Given the description of an element on the screen output the (x, y) to click on. 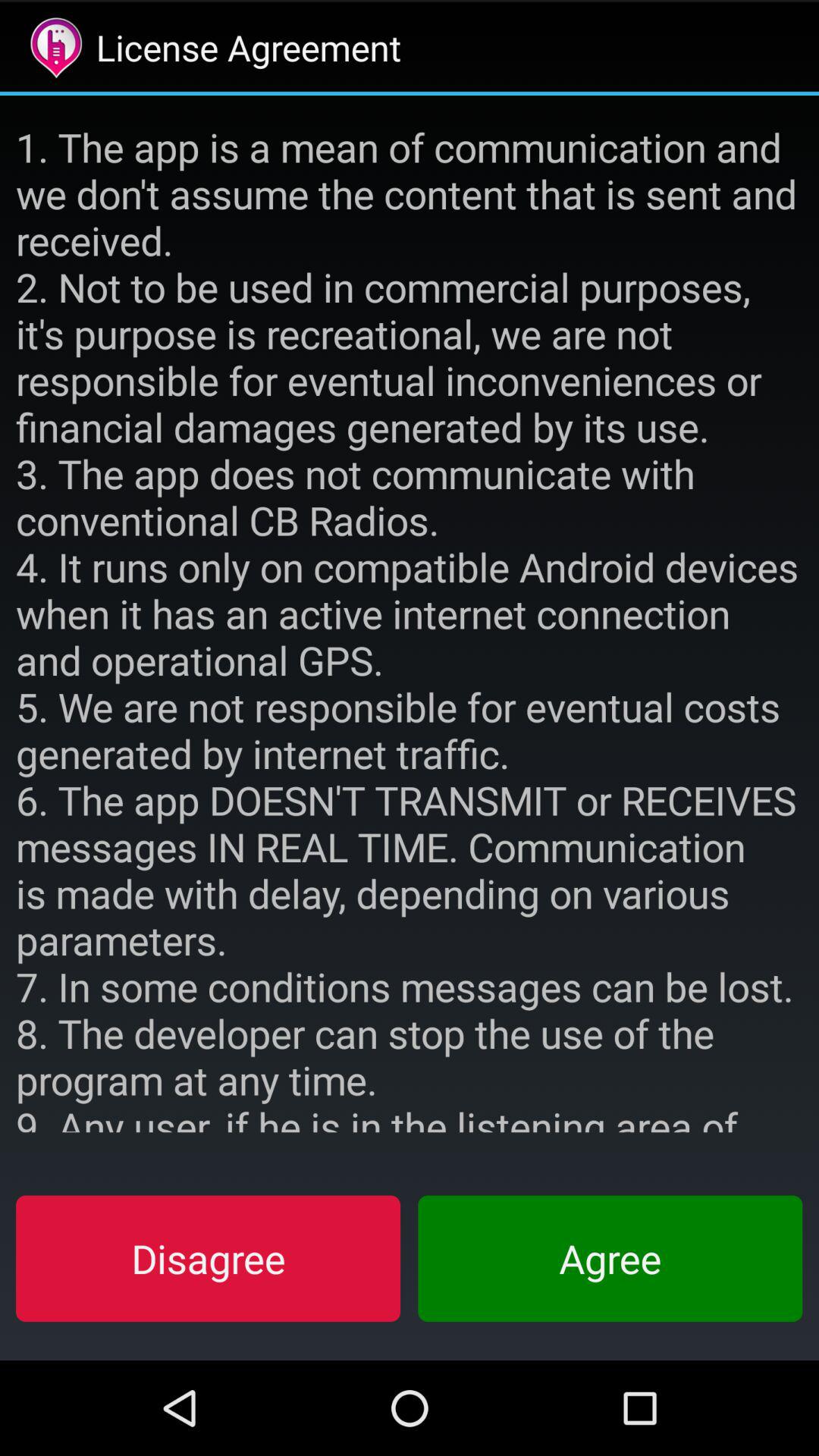
select button next to agree button (207, 1258)
